Given the description of an element on the screen output the (x, y) to click on. 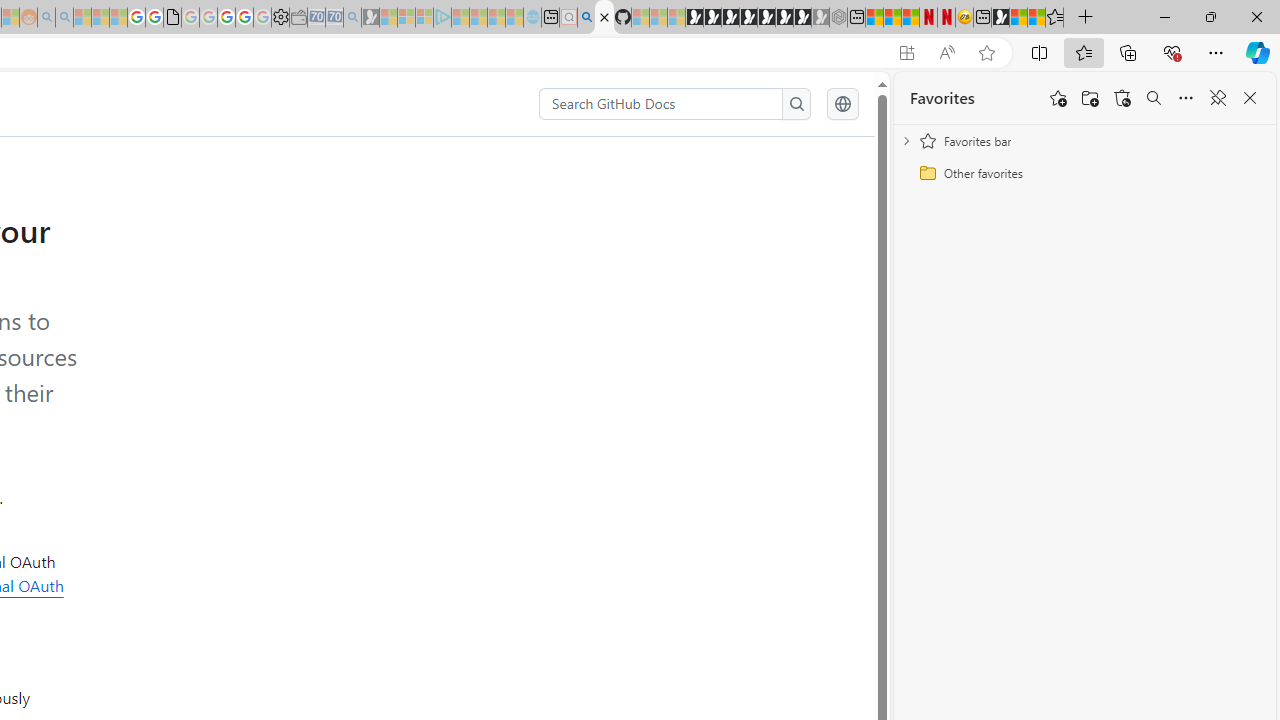
Microsoft Start - Sleeping (496, 17)
New tab (982, 17)
Wallet - Sleeping (298, 17)
Add this page to favorites (Ctrl+D) (986, 53)
Browser essentials (1171, 52)
Microsoft account | Privacy - Sleeping (424, 17)
